Given the description of an element on the screen output the (x, y) to click on. 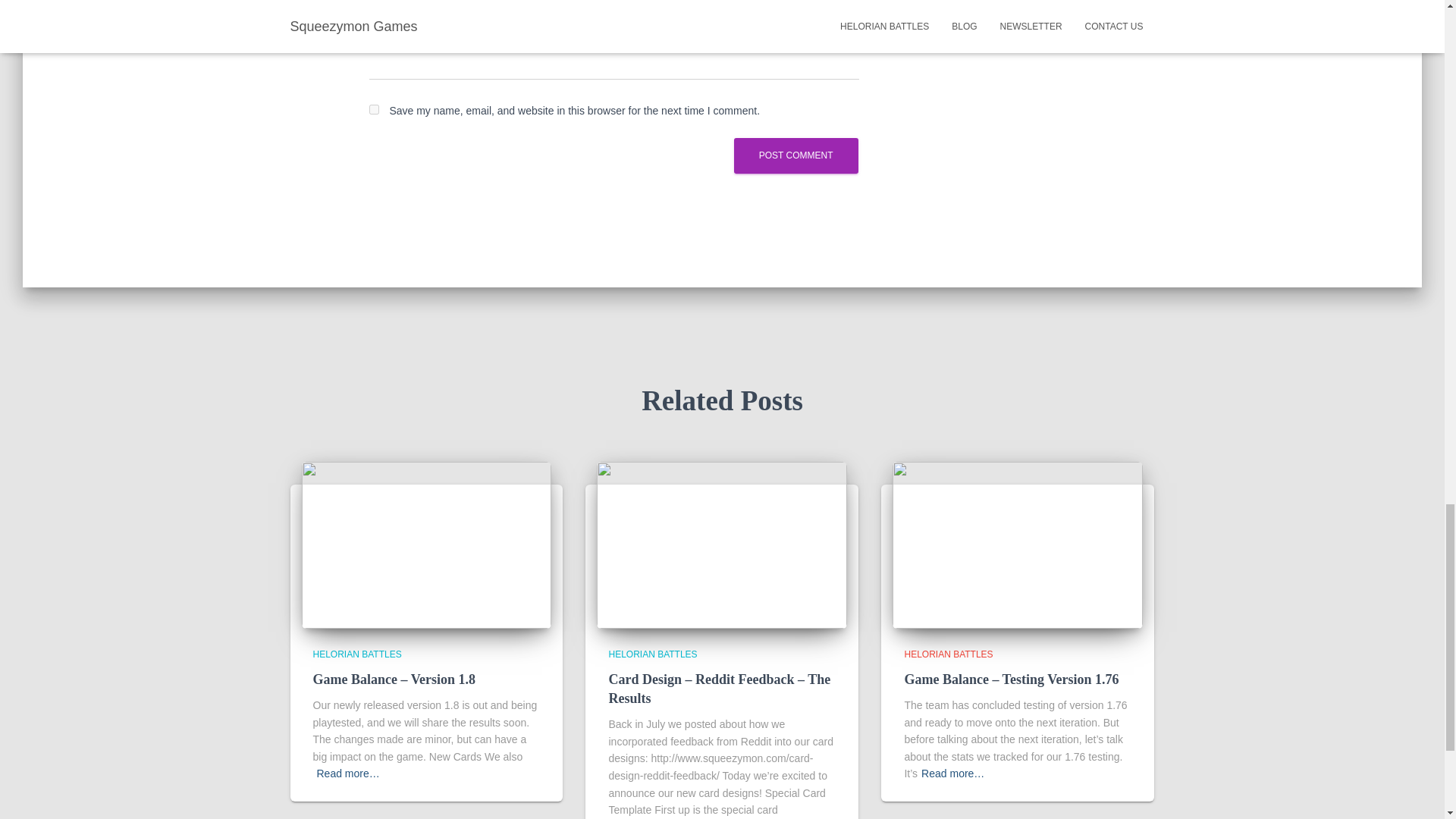
View all posts in Helorian Battles (357, 654)
HELORIAN BATTLES (652, 654)
Post Comment (796, 155)
View all posts in Helorian Battles (652, 654)
yes (373, 109)
HELORIAN BATTLES (357, 654)
HELORIAN BATTLES (948, 654)
View all posts in Helorian Battles (948, 654)
Post Comment (796, 155)
